Given the description of an element on the screen output the (x, y) to click on. 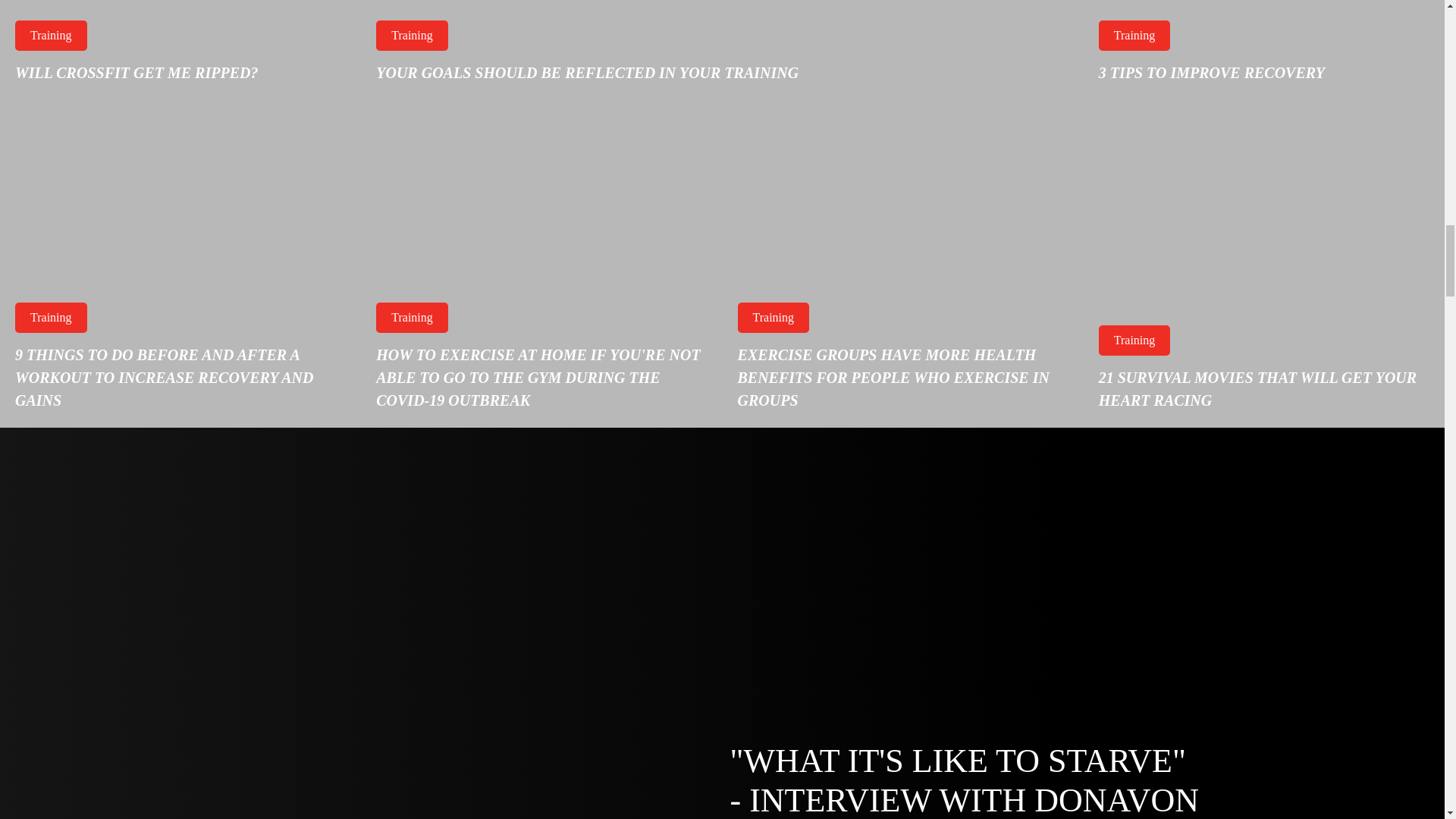
Will Crossfit Get Me Ripped (180, 49)
Your Goals Should Be Reflected In Your Training (722, 49)
